Given the description of an element on the screen output the (x, y) to click on. 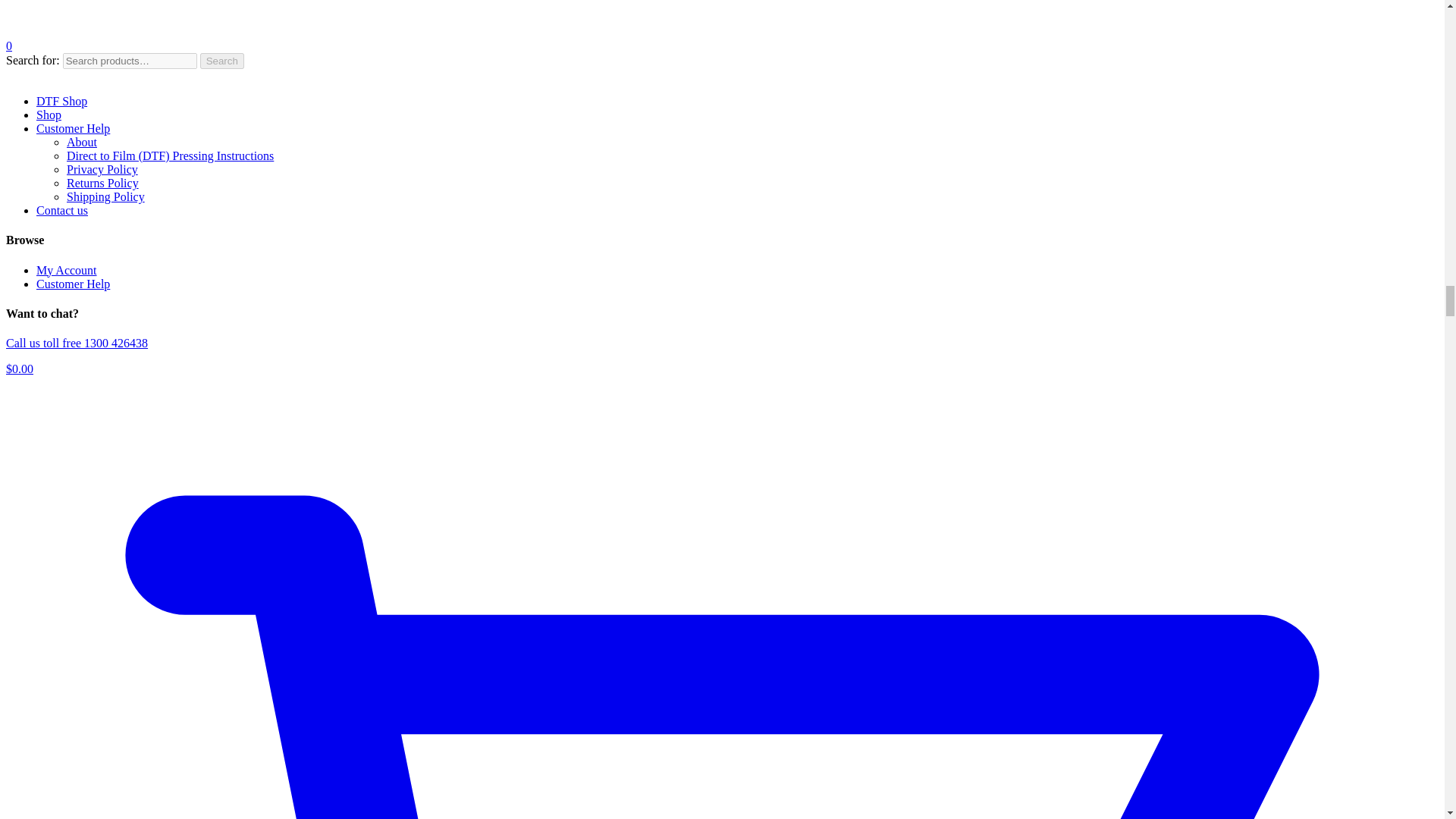
Contact us (61, 210)
DTF Shop (61, 101)
My Account (66, 269)
About (81, 141)
Shop (48, 114)
Customer Help (73, 283)
Search (222, 60)
Customer Help (73, 128)
Call us toll free 1300 426438 (76, 342)
Privacy Policy (102, 169)
Returns Policy (102, 182)
Shipping Policy (105, 196)
